Given the description of an element on the screen output the (x, y) to click on. 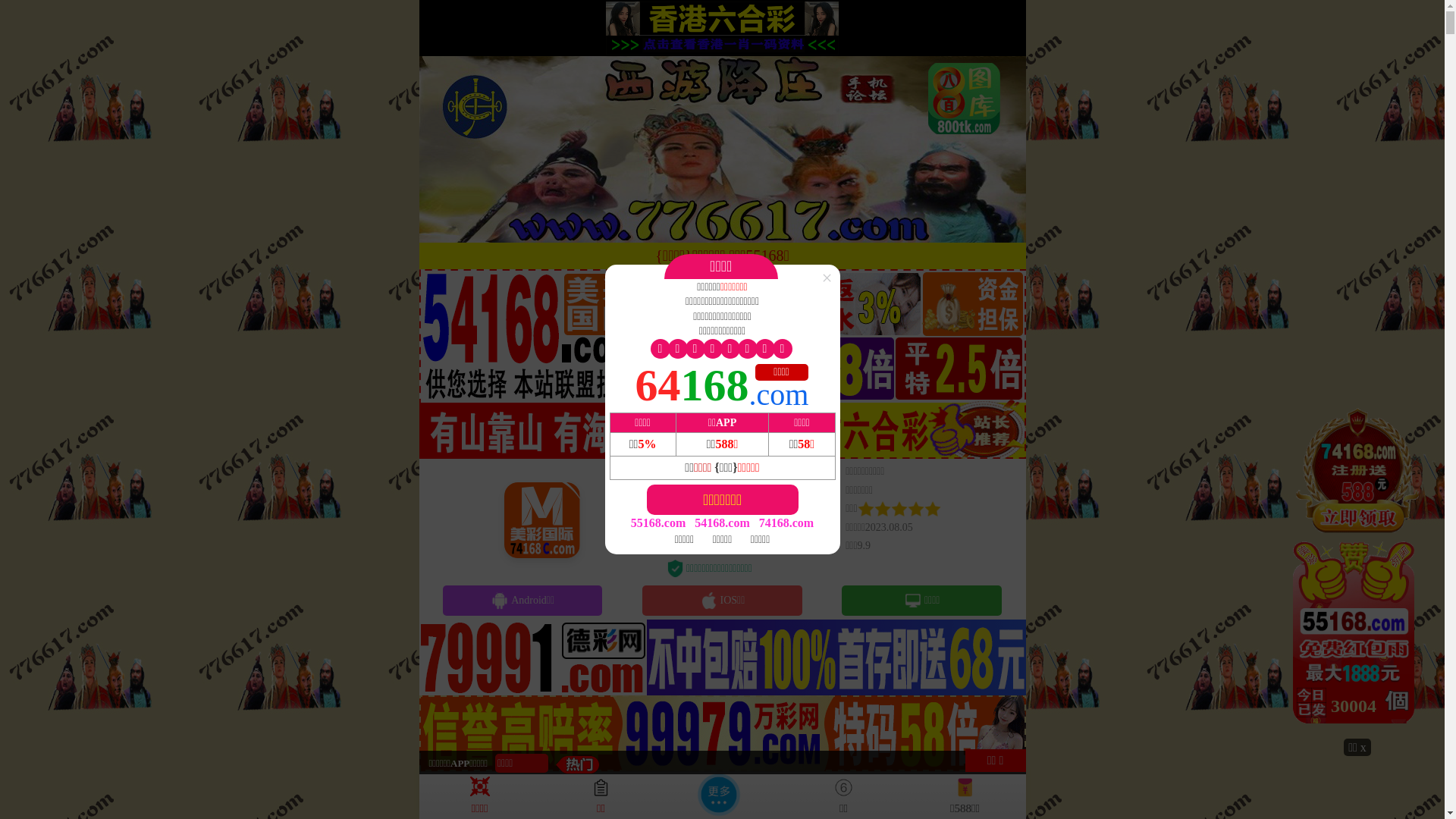
30359 Element type: text (1356, 570)
